Given the description of an element on the screen output the (x, y) to click on. 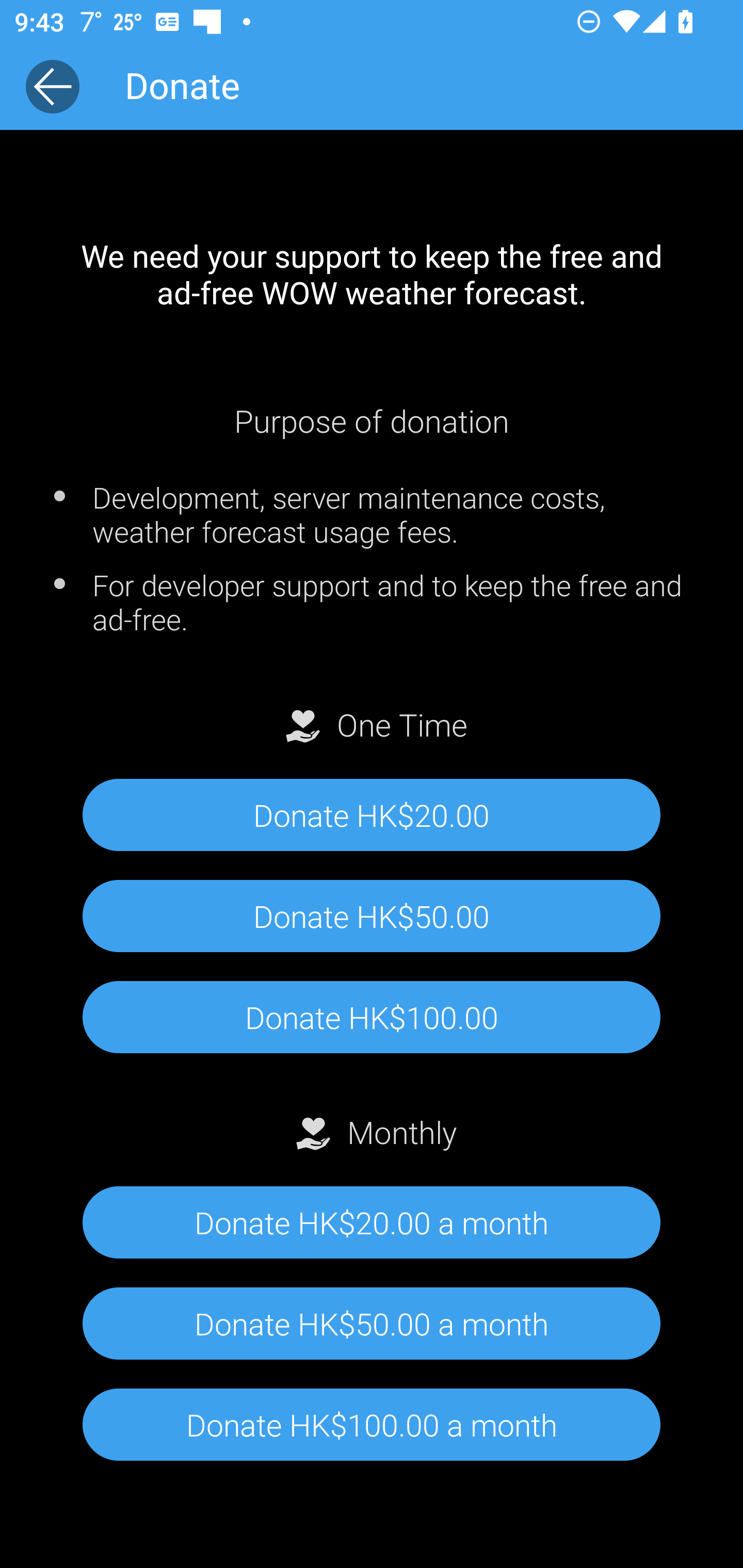
Donate HK$20.00 (371, 815)
Donate HK$50.00 (371, 915)
Donate HK$100.00 (371, 1017)
Donate HK$20.00 a month (371, 1222)
Donate HK$50.00 a month (371, 1323)
Donate HK$100.00 a month (371, 1425)
